Given the description of an element on the screen output the (x, y) to click on. 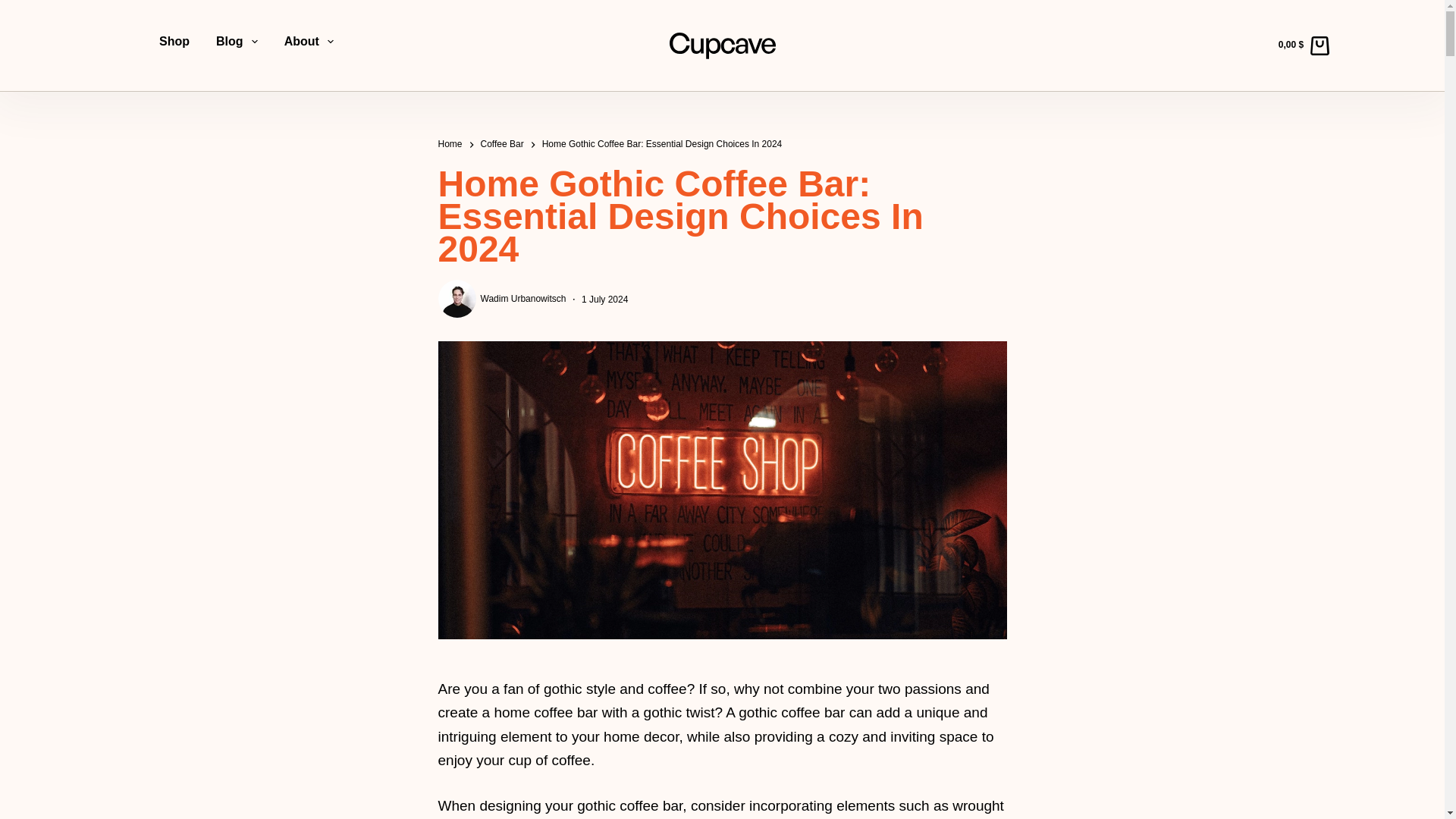
Skip to content (15, 7)
Posts by Wadim Urbanowitsch (523, 299)
Home Gothic Coffee Bar: Essential Design Choices In 2024 (722, 216)
About (308, 41)
